Given the description of an element on the screen output the (x, y) to click on. 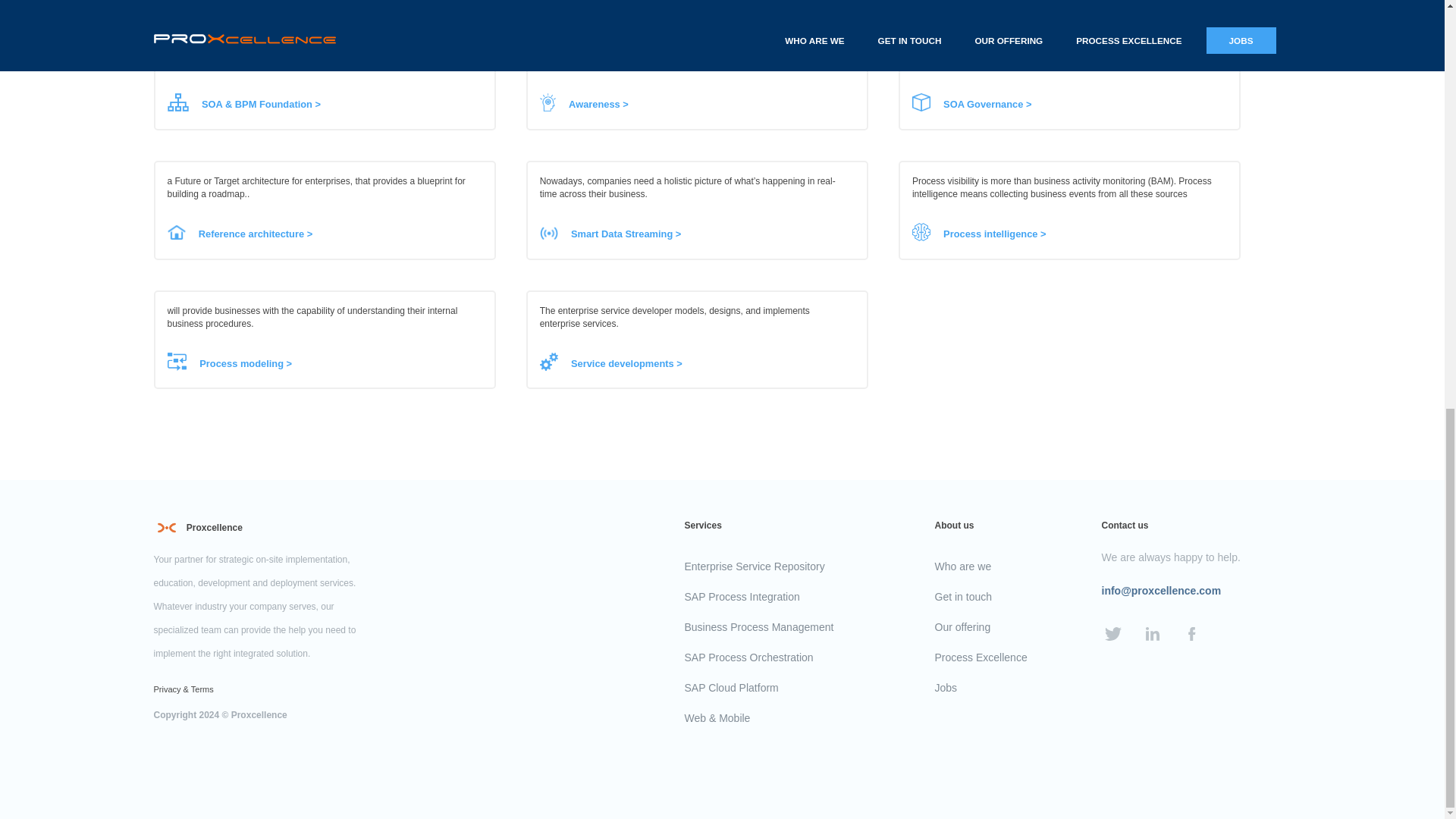
SAP Process Integration (741, 596)
Business Process Management (758, 626)
Enterprise Service Repository (754, 566)
